Given the description of an element on the screen output the (x, y) to click on. 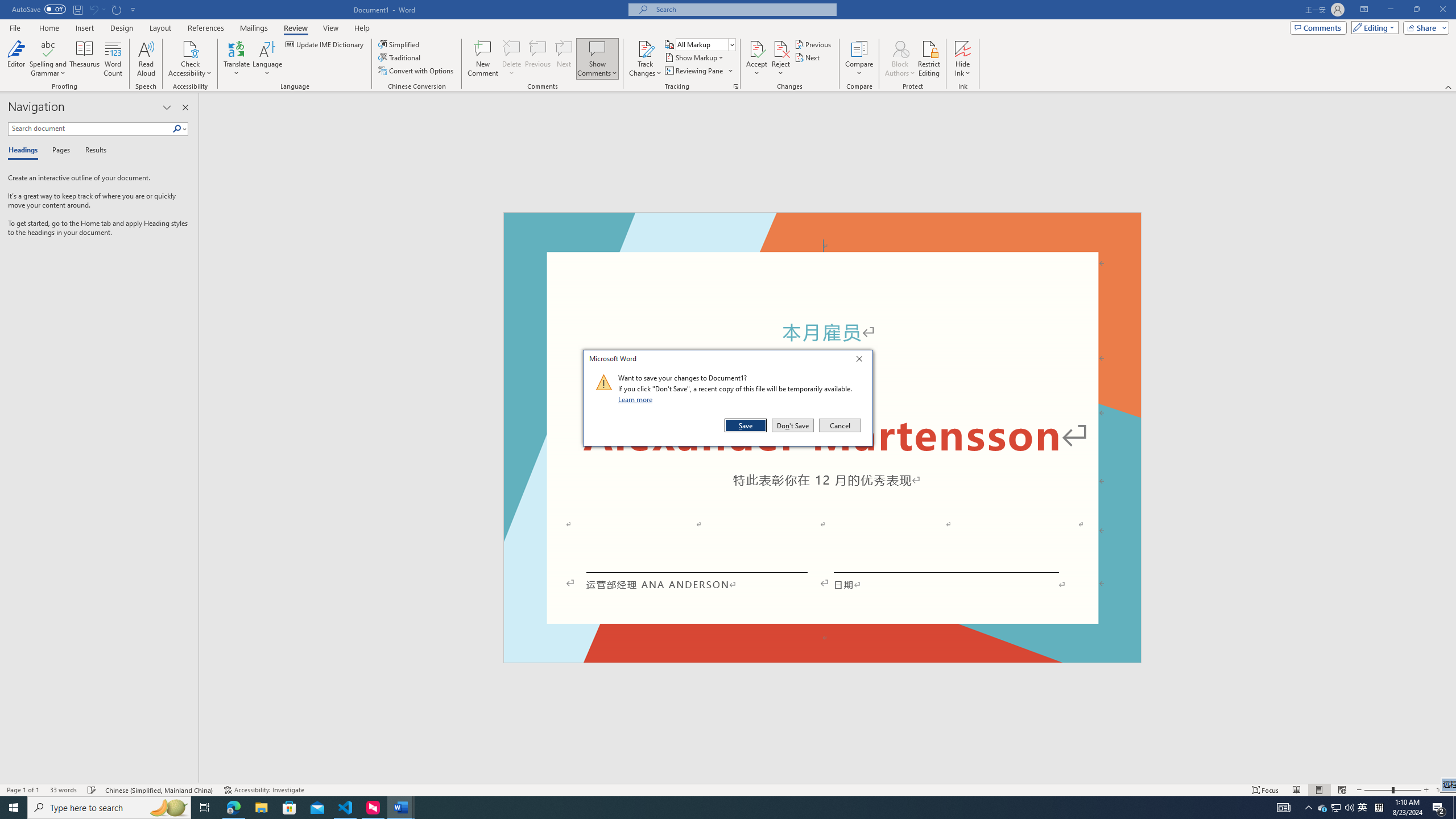
Pages (59, 150)
Microsoft search (742, 9)
Don't Save (792, 425)
Microsoft Edge - 1 running window (233, 807)
Mailings (253, 28)
Can't Undo (96, 9)
Mode (1372, 27)
Task View (204, 807)
Review (295, 28)
Check Accessibility (189, 58)
Show Comments (597, 58)
Comments (1318, 27)
Block Authors (900, 58)
Simplified (400, 44)
